Given the description of an element on the screen output the (x, y) to click on. 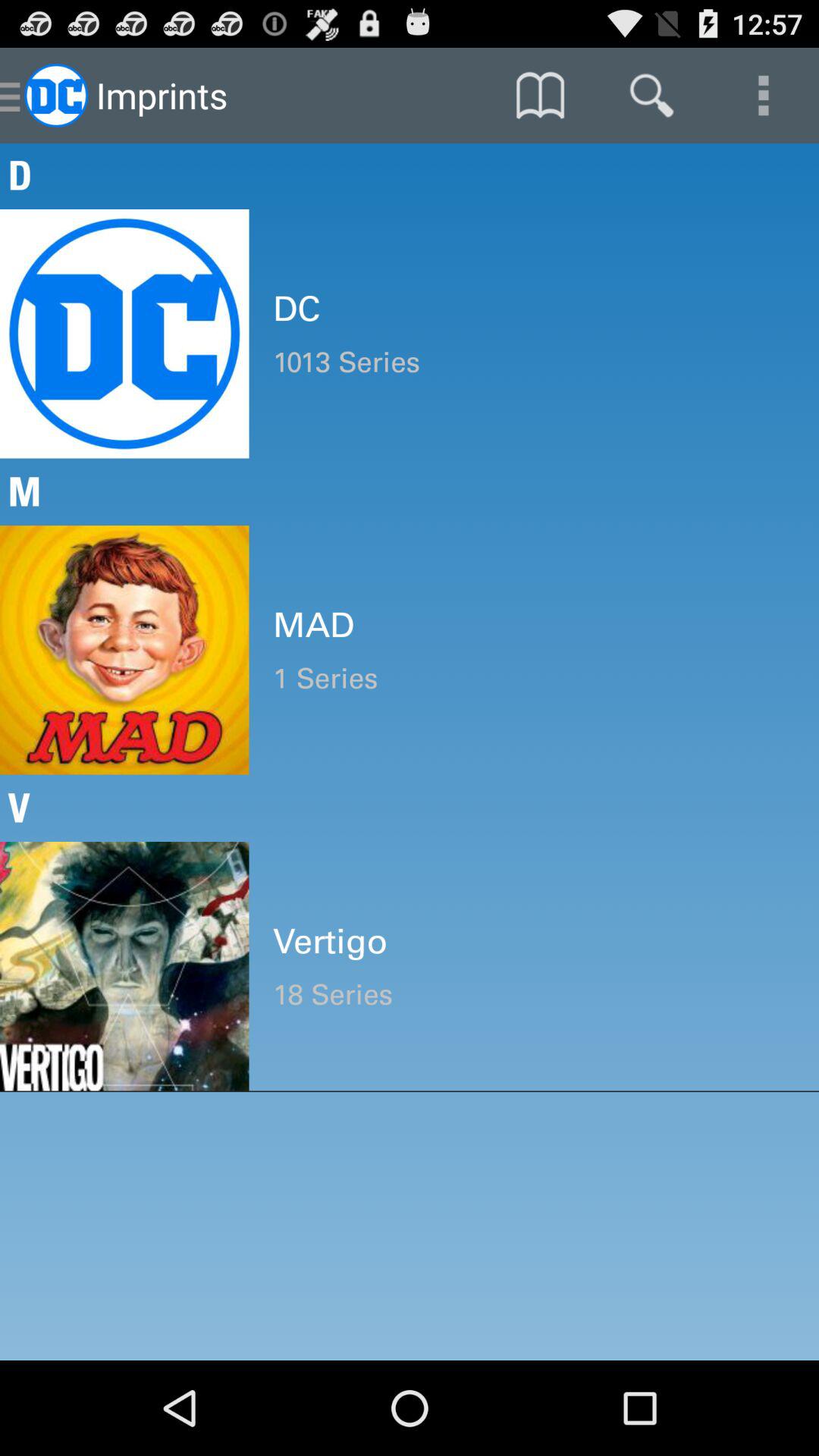
swipe to the mad (534, 624)
